Given the description of an element on the screen output the (x, y) to click on. 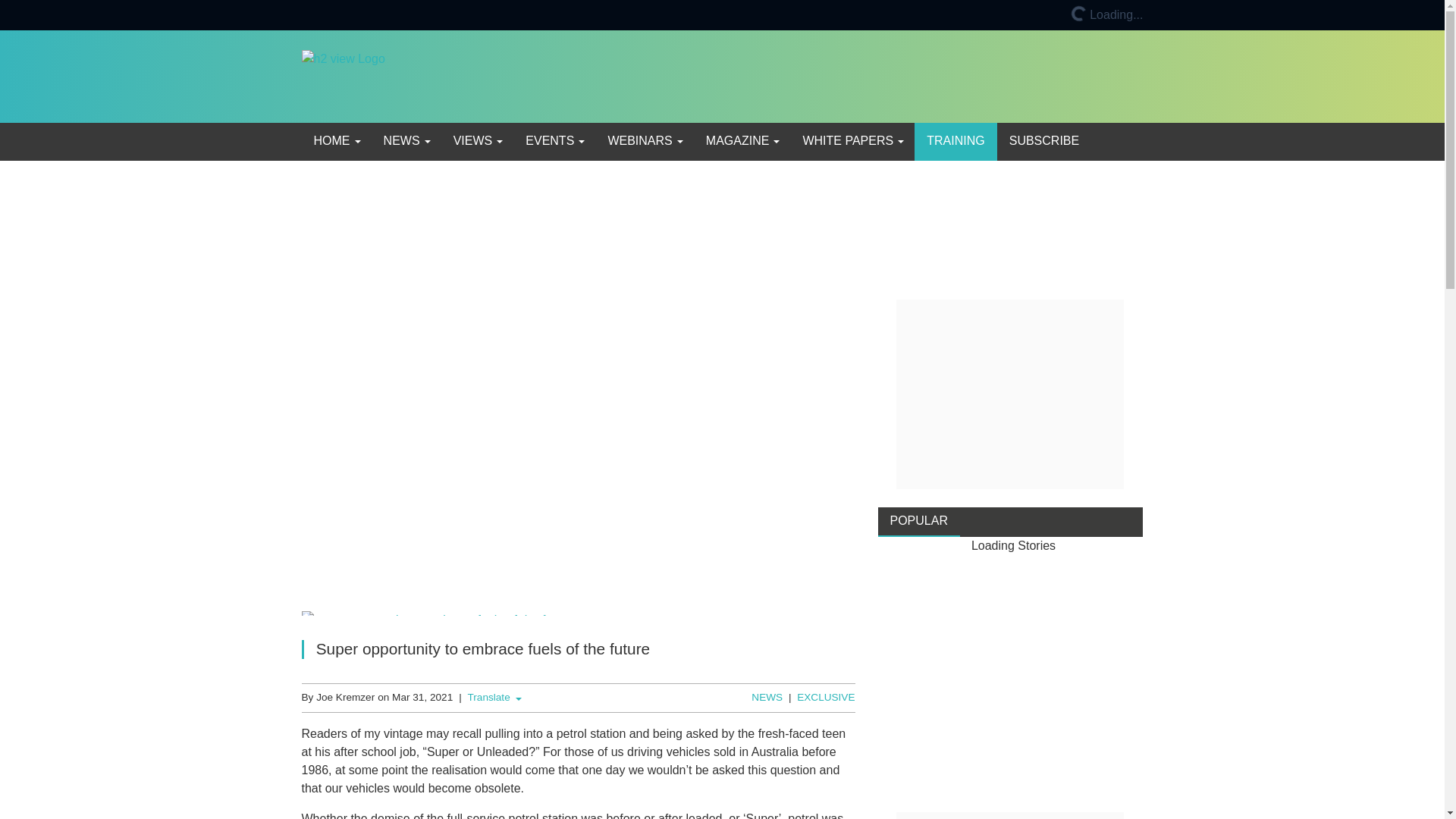
VIEWS (477, 140)
H2 View (343, 74)
NEWS (406, 140)
Home (336, 140)
HOME (336, 140)
News (406, 140)
